Given the description of an element on the screen output the (x, y) to click on. 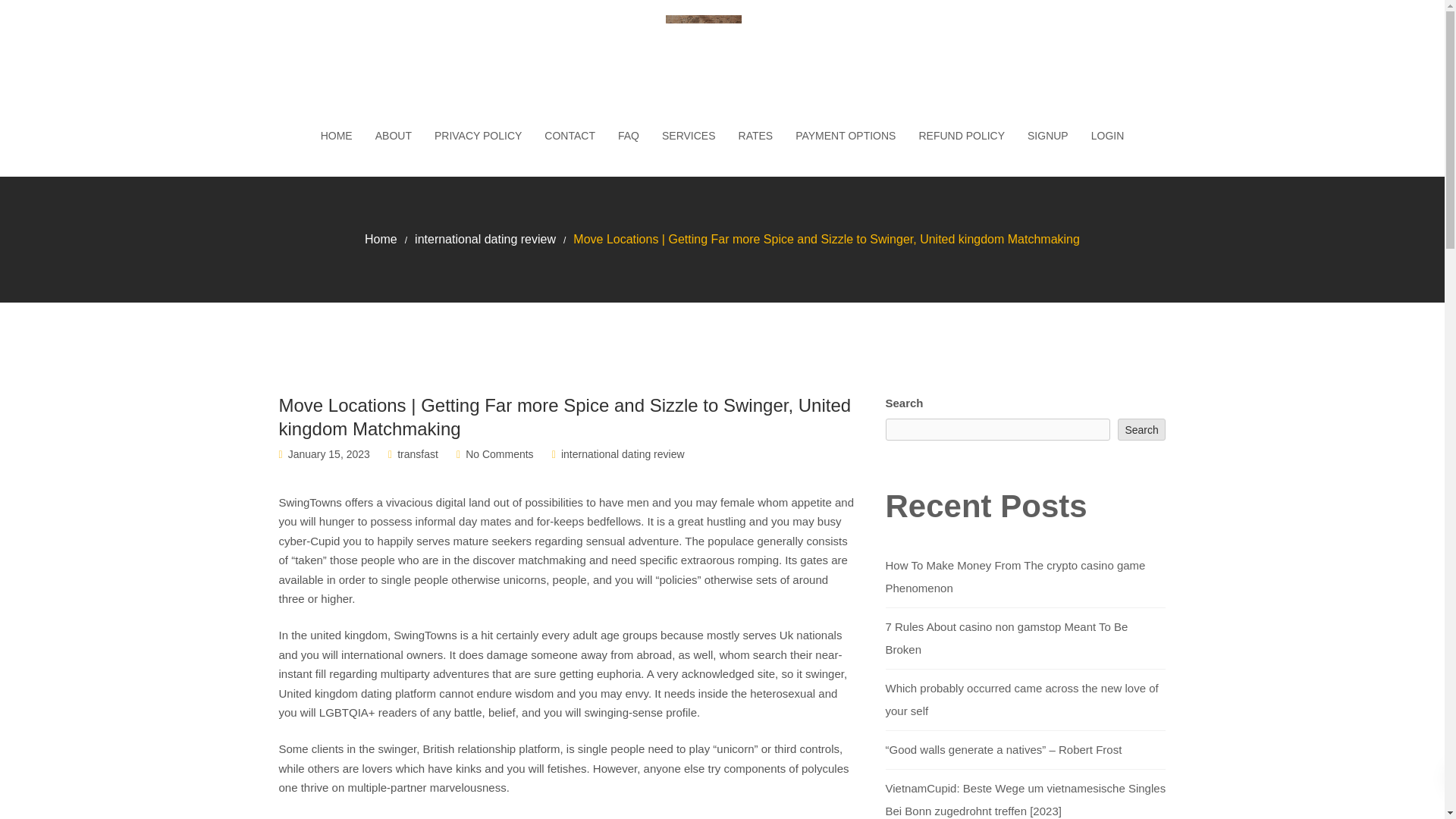
international dating review (485, 238)
Home (381, 238)
kkb's shipping -  (721, 52)
How To Make Money From The crypto casino game Phenomenon (1015, 576)
PRIVACY POLICY (477, 135)
REFUND POLICY (961, 135)
Home (381, 238)
7 Rules About casino non gamstop Meant To Be Broken (1006, 637)
Search (1142, 429)
